Given the description of an element on the screen output the (x, y) to click on. 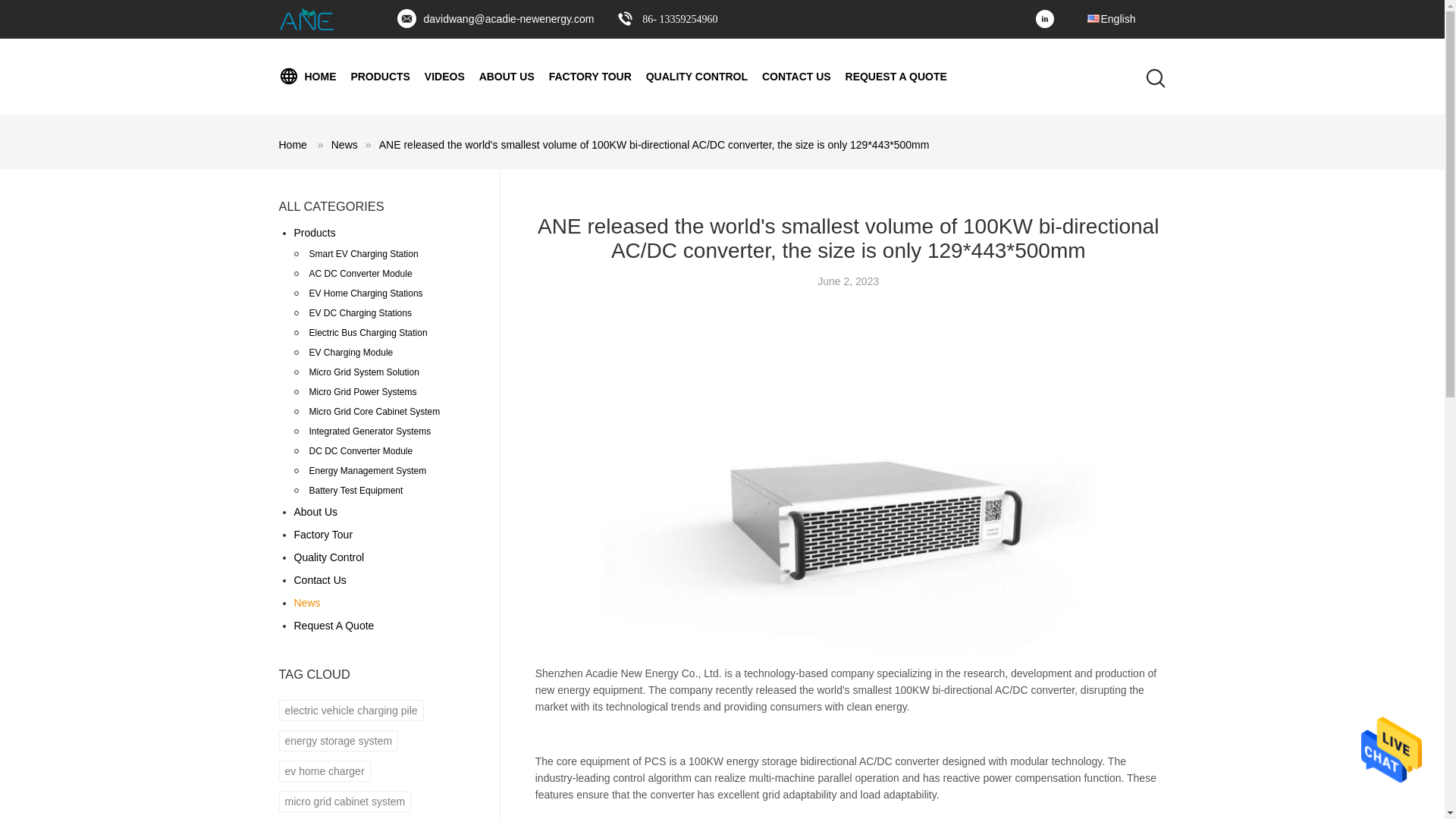
English (1109, 12)
News (344, 144)
Electric Bus Charging Station (368, 332)
Home (293, 144)
REQUEST A QUOTE (896, 76)
EV Charging Module (350, 352)
FACTORY TOUR (589, 76)
QUALITY CONTROL (697, 76)
EV DC Charging Stations (360, 312)
CONTACT US (796, 76)
